Given the description of an element on the screen output the (x, y) to click on. 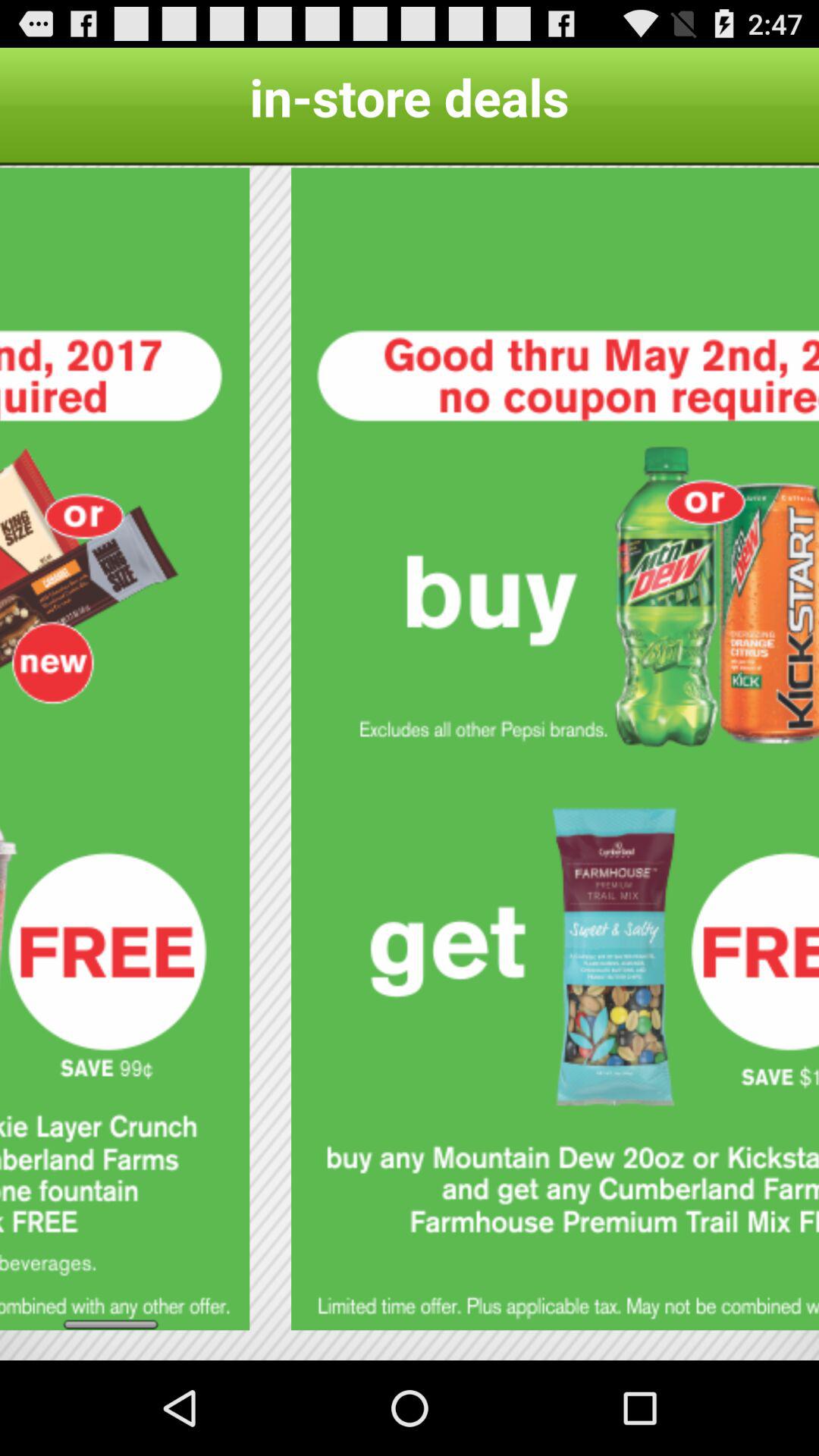
tap icon on the left (124, 748)
